Given the description of an element on the screen output the (x, y) to click on. 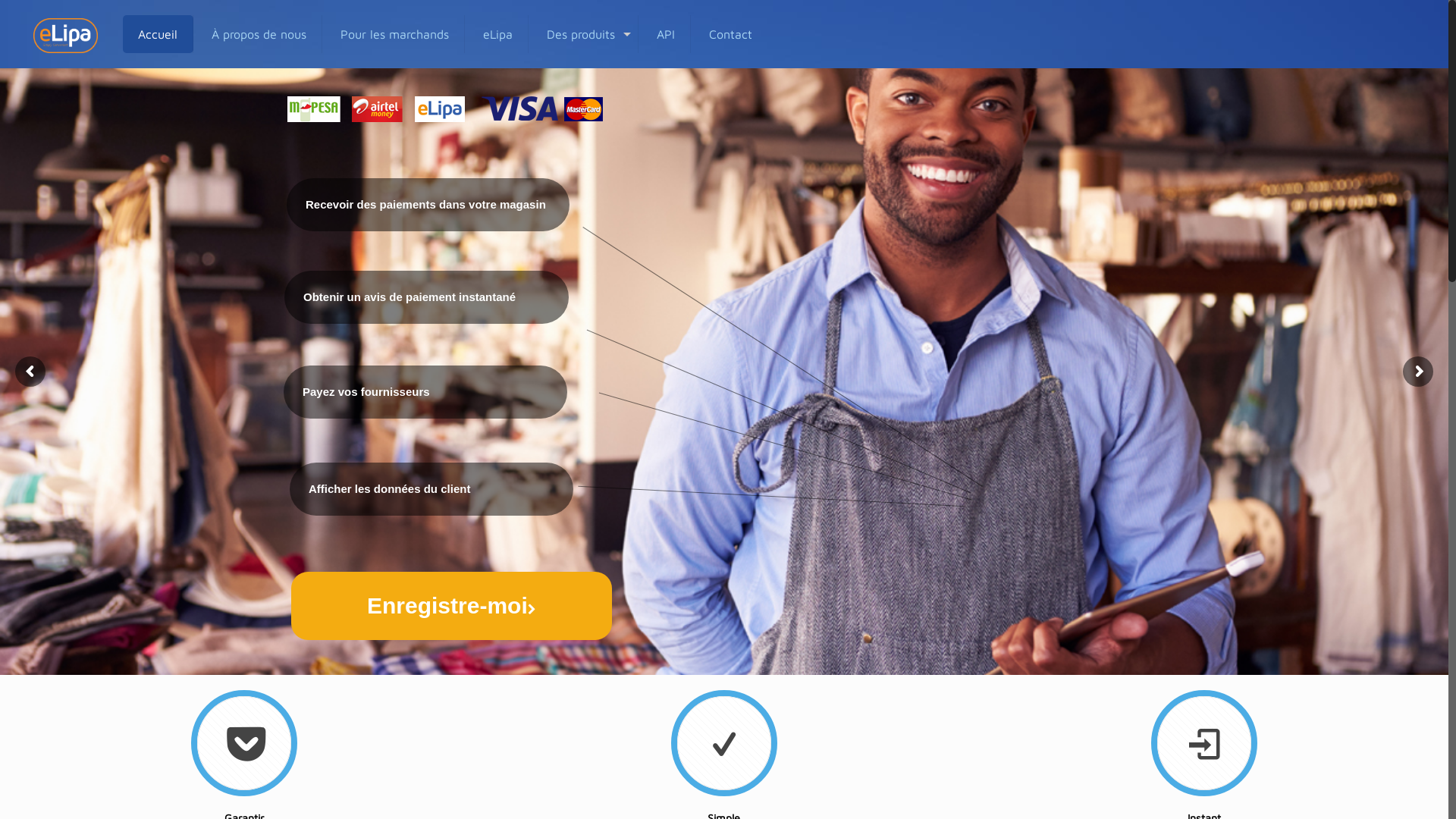
eLipa Element type: text (497, 34)
API Element type: text (665, 34)
Enregistre-moi Element type: text (451, 605)
iPay Limited Element type: hover (65, 34)
Accueil Element type: text (157, 34)
Pour les marchands Element type: text (394, 34)
Des produits Element type: text (584, 34)
Contact Element type: text (730, 34)
